Given the description of an element on the screen output the (x, y) to click on. 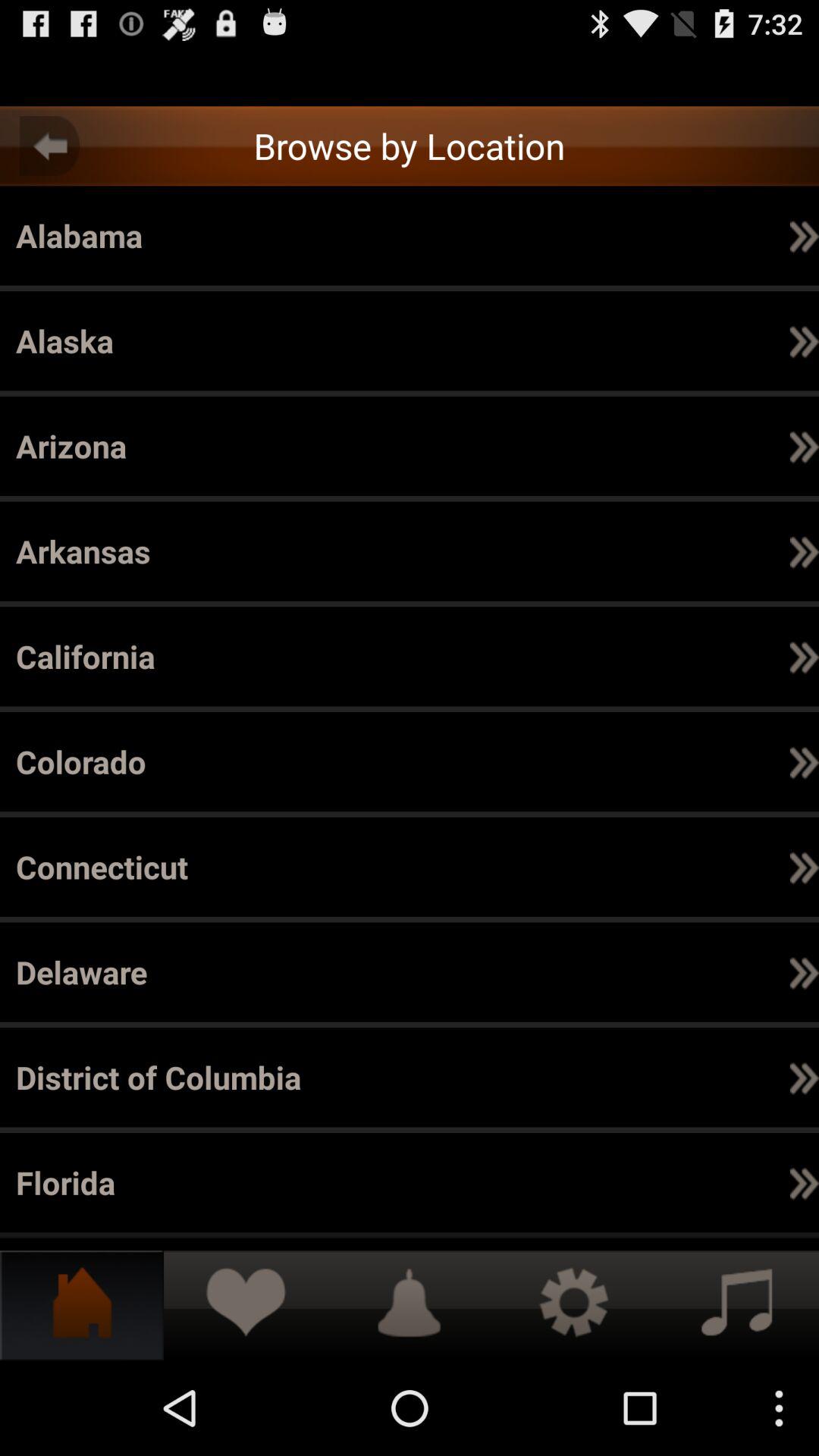
browser (409, 76)
